Given the description of an element on the screen output the (x, y) to click on. 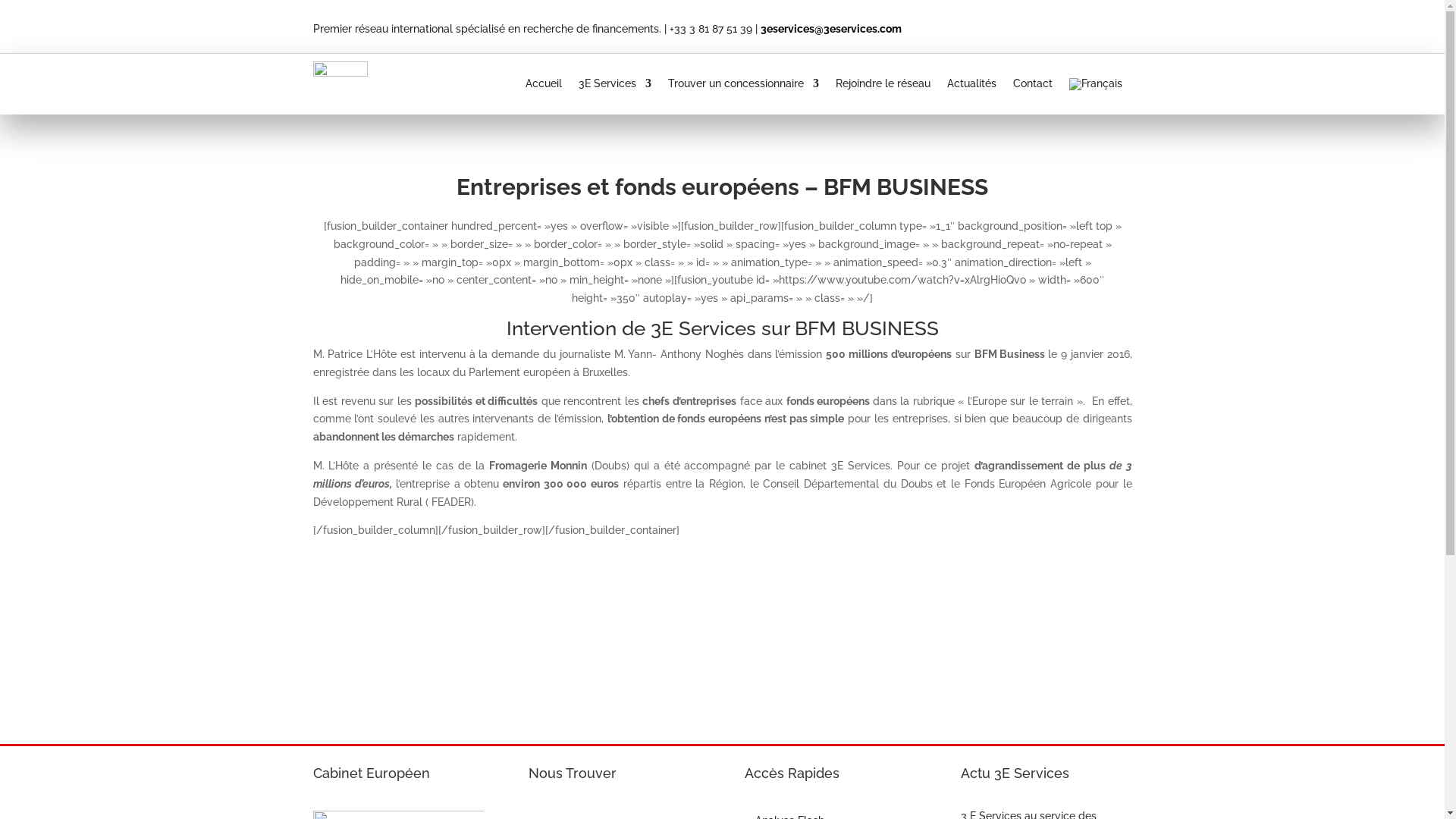
Trouver un concessionnaire Element type: text (743, 87)
3E Services Element type: text (614, 87)
Contact Element type: text (1032, 87)
Logo-3E-Services-2 Element type: hover (339, 83)
Accueil Element type: text (543, 87)
3eservices@3eservices.com Element type: text (829, 28)
